Given the description of an element on the screen output the (x, y) to click on. 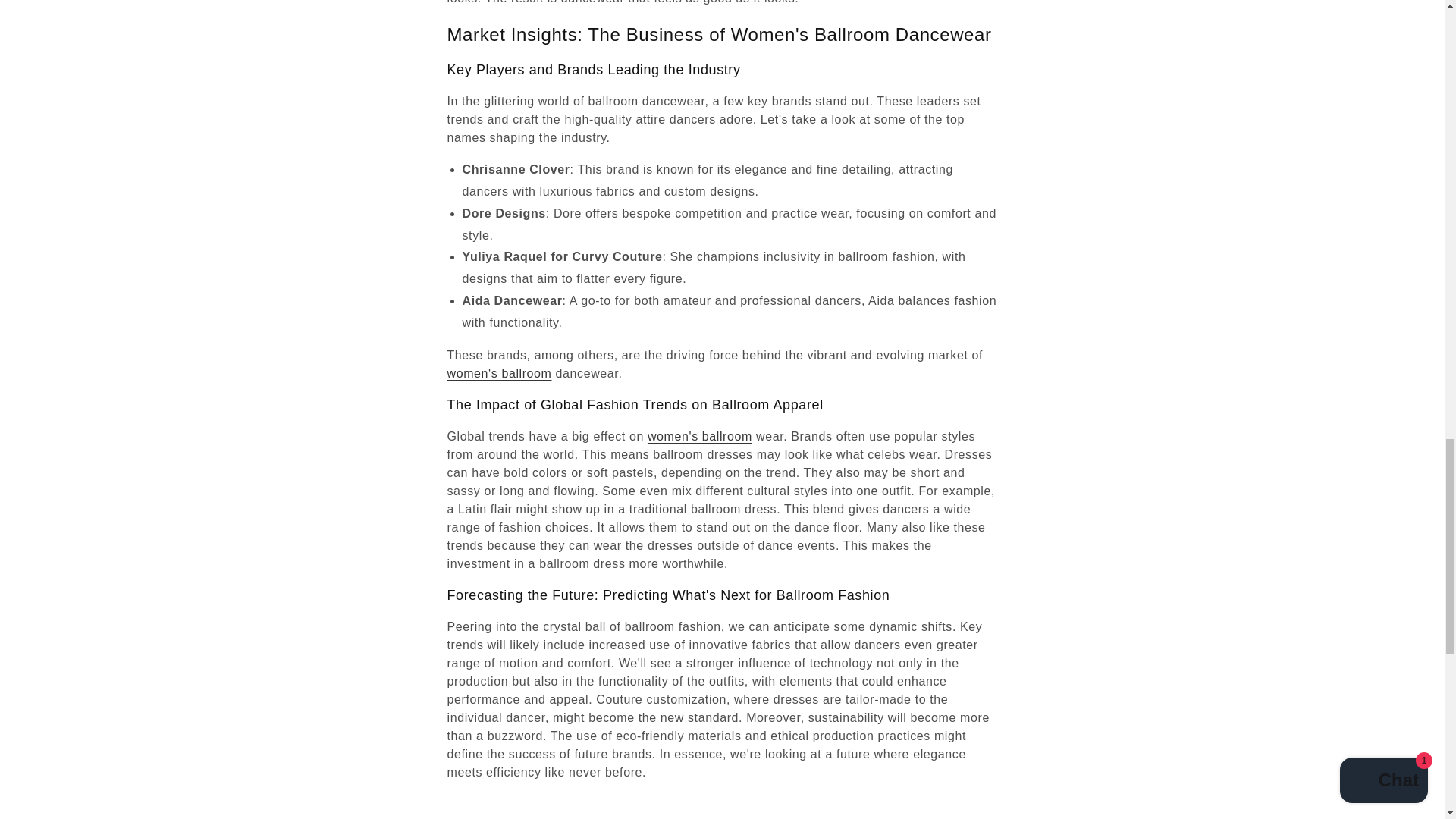
women's ballroom (498, 373)
women's ballroom (699, 436)
